Given the description of an element on the screen output the (x, y) to click on. 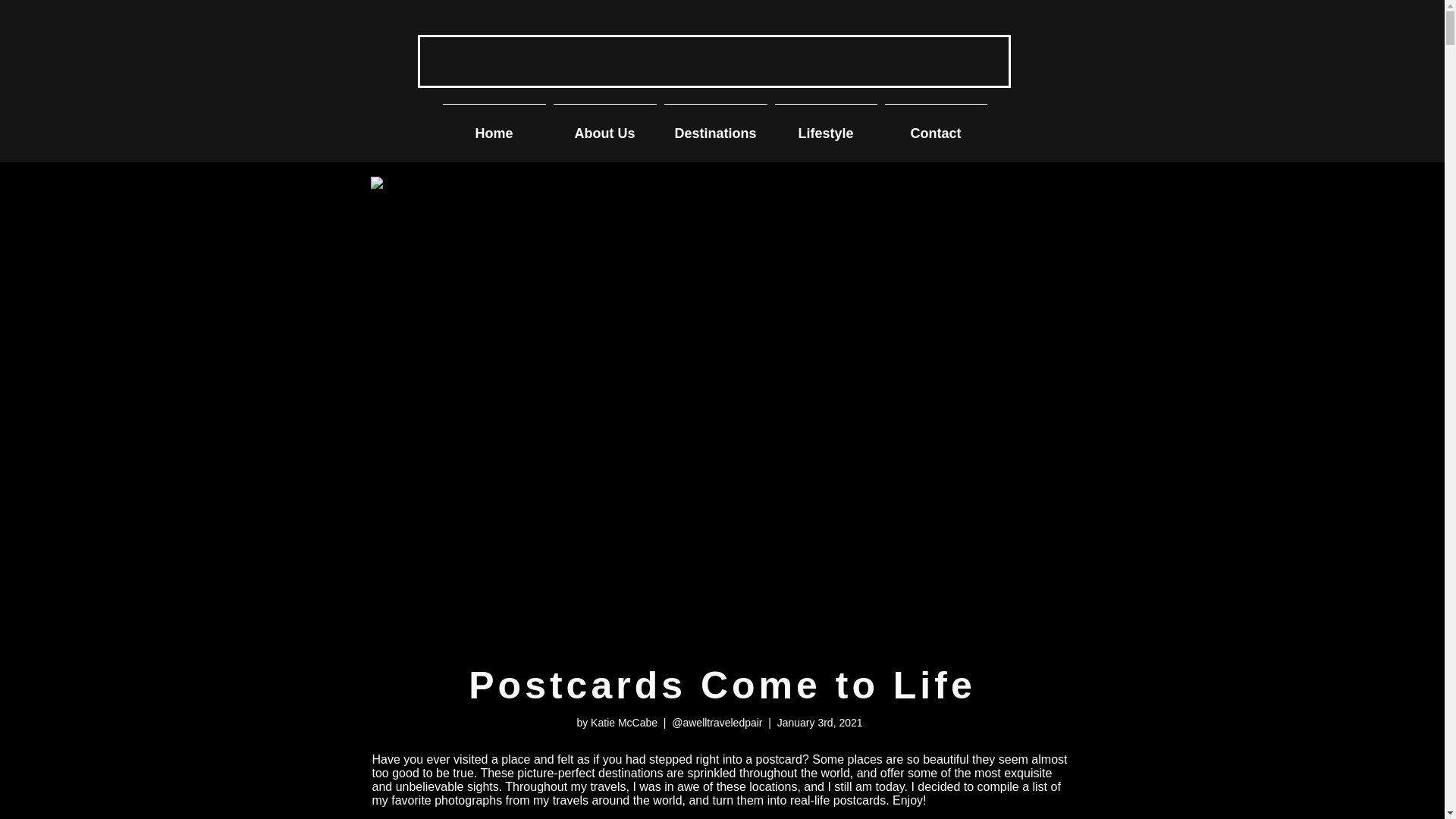
Lifestyle (825, 126)
Destinations (714, 126)
About Us (603, 126)
Home (493, 126)
Contact (935, 126)
